Given the description of an element on the screen output the (x, y) to click on. 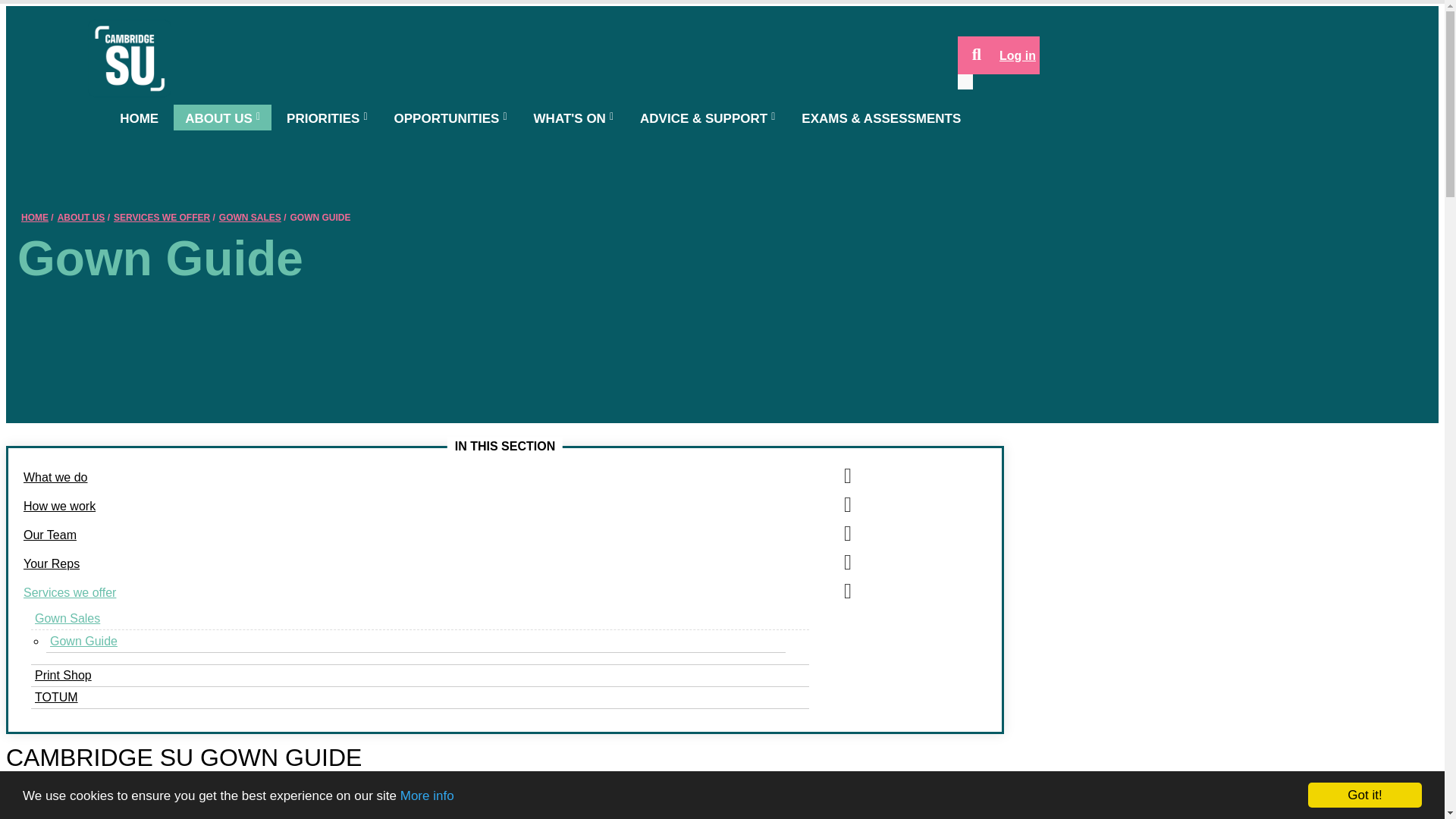
HOME (138, 117)
More info (427, 795)
Search (976, 54)
Log in (1017, 55)
Got it! (1364, 794)
ABOUT US (221, 117)
OPPORTUNITIES (450, 117)
Search (976, 54)
WHAT'S ON (573, 117)
PRIORITIES (326, 117)
